Given the description of an element on the screen output the (x, y) to click on. 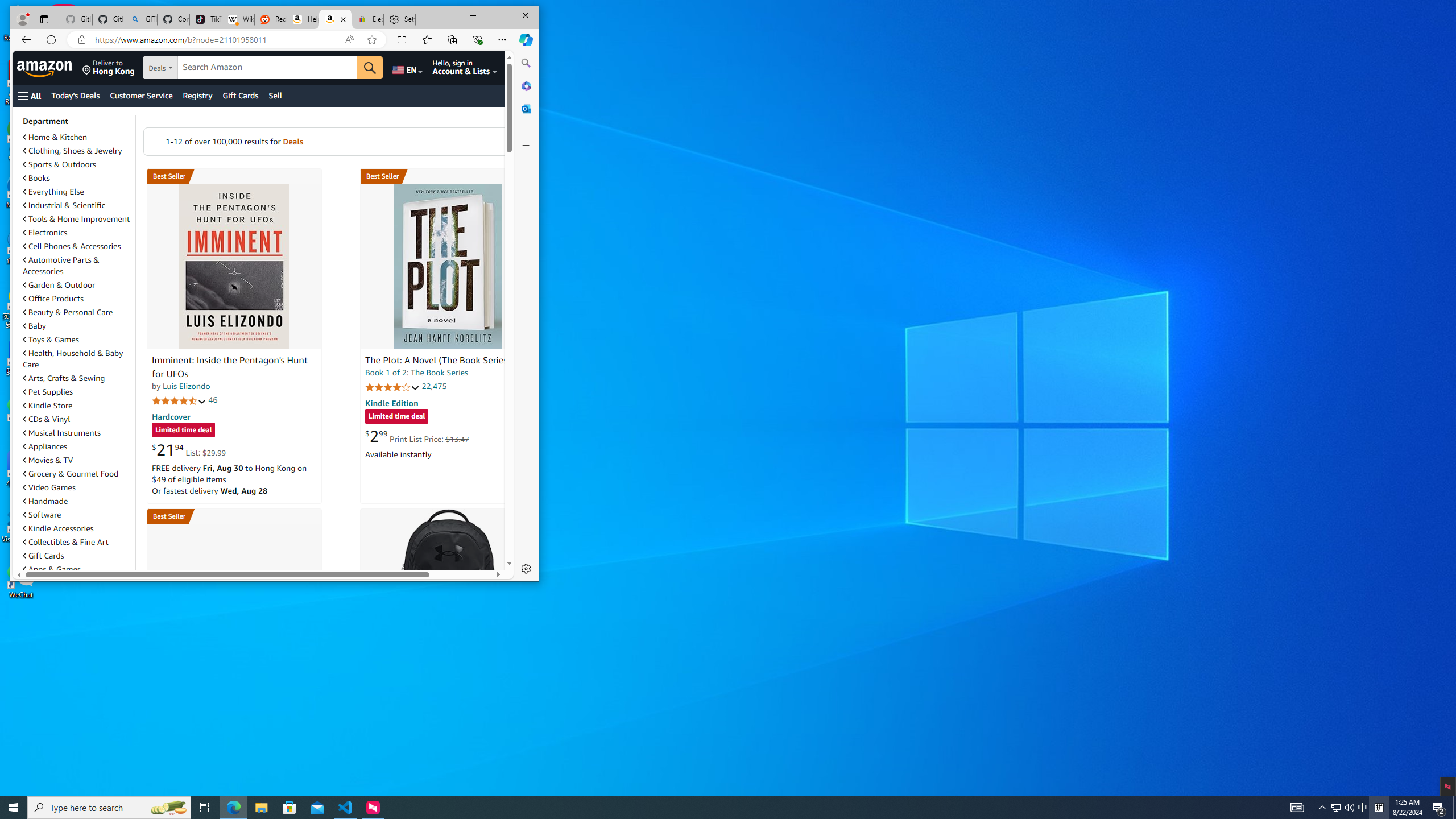
Electronics (44, 232)
Visual Studio Code - 1 running window (345, 807)
Video Games (77, 487)
Action Center, 2 new notifications (1439, 807)
Toys & Games (77, 339)
Imminent: Inside the Pentagon's Hunt for UFOs (229, 367)
Office Products (53, 298)
Book 1 of 2: The Book Series (416, 372)
Amazon.com: Deals (335, 19)
Software (77, 514)
The Plot: A Novel (The Book Series 1) (447, 265)
Reddit - Dive into anything (269, 19)
